Given the description of an element on the screen output the (x, y) to click on. 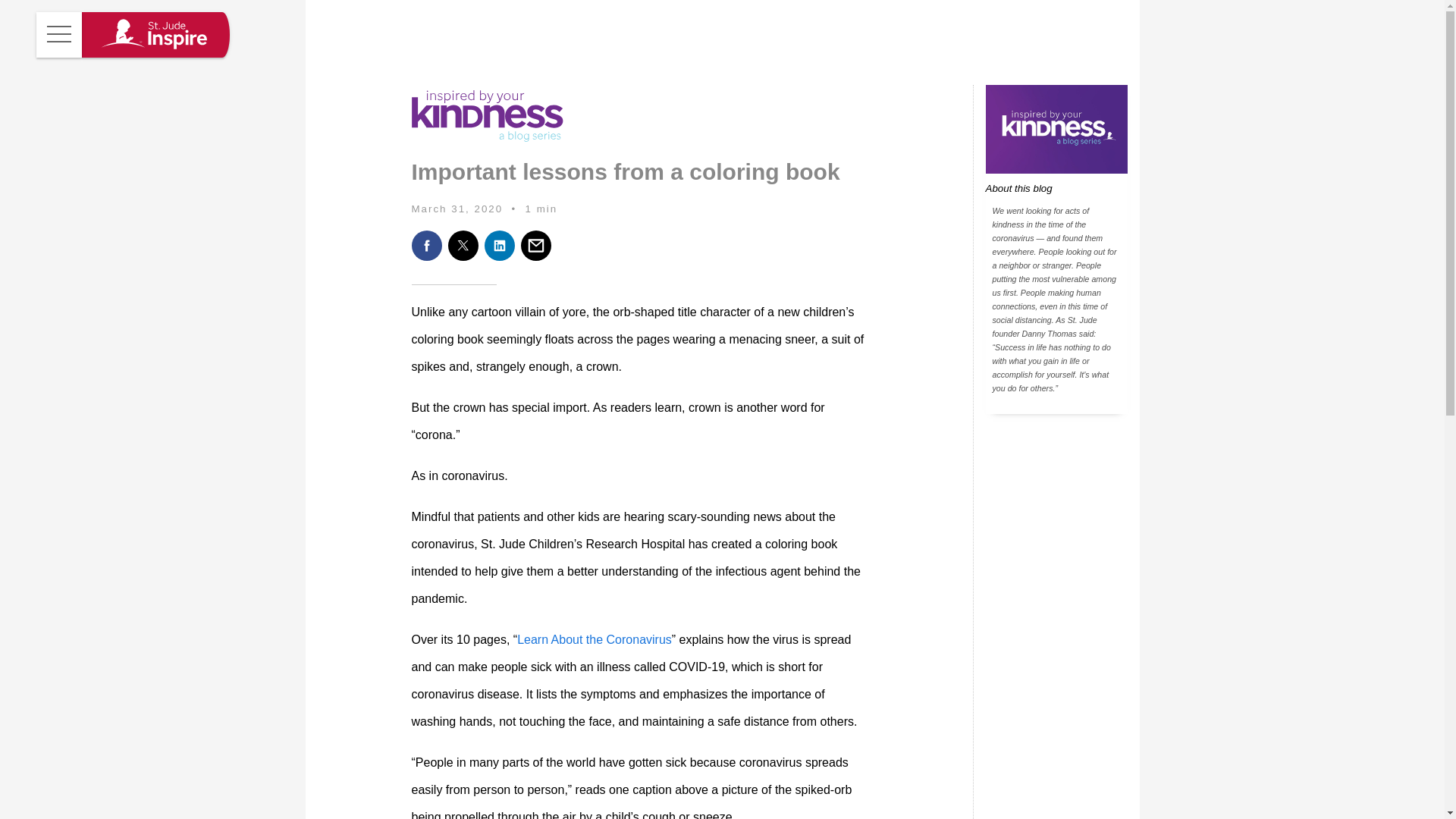
Learn About the Coronavirus (593, 639)
Main Menu (58, 34)
Share through Facebook (425, 245)
St. Jude Inspire Homepage (152, 34)
